Given the description of an element on the screen output the (x, y) to click on. 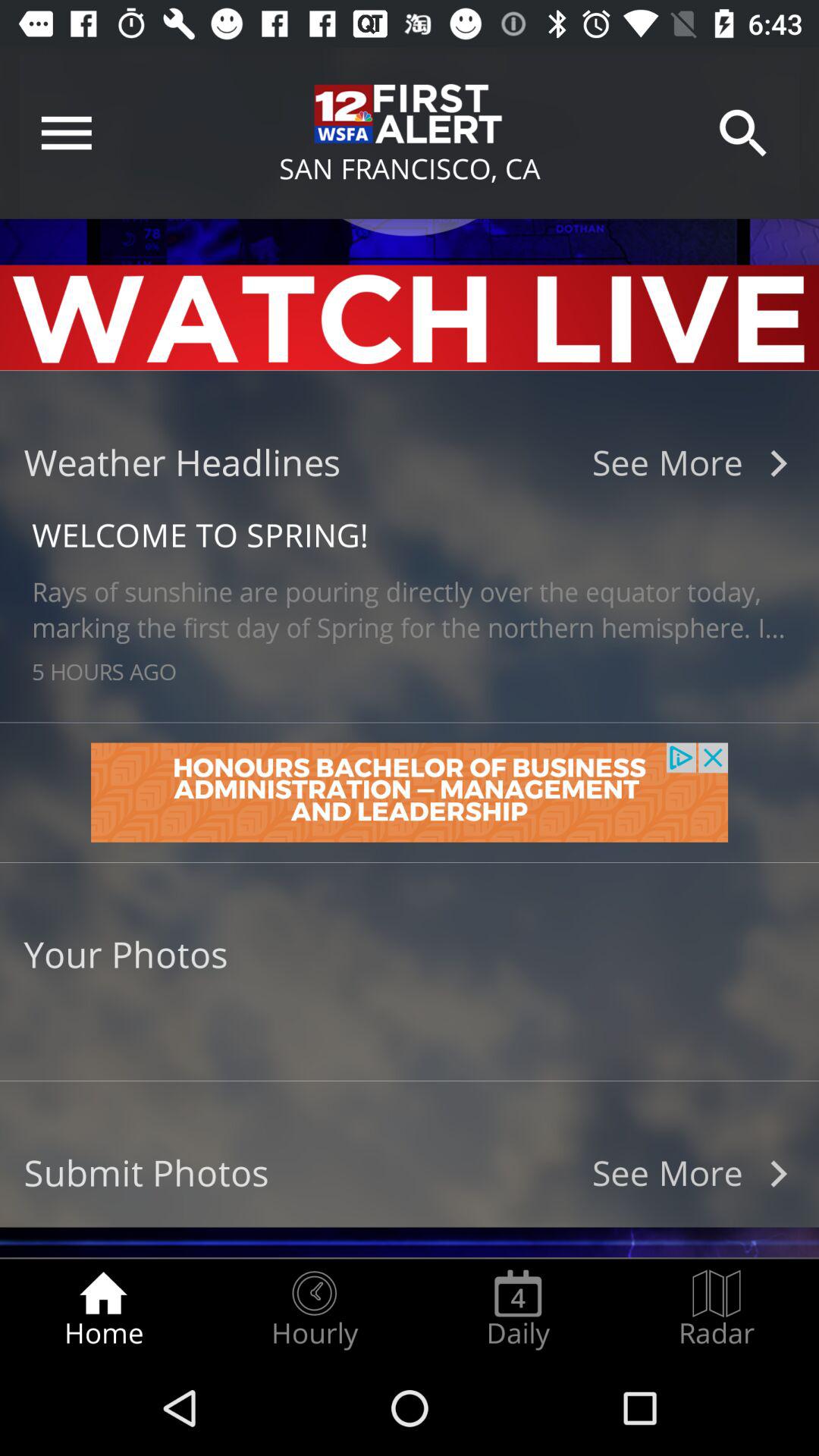
select the radar item (716, 1309)
